Given the description of an element on the screen output the (x, y) to click on. 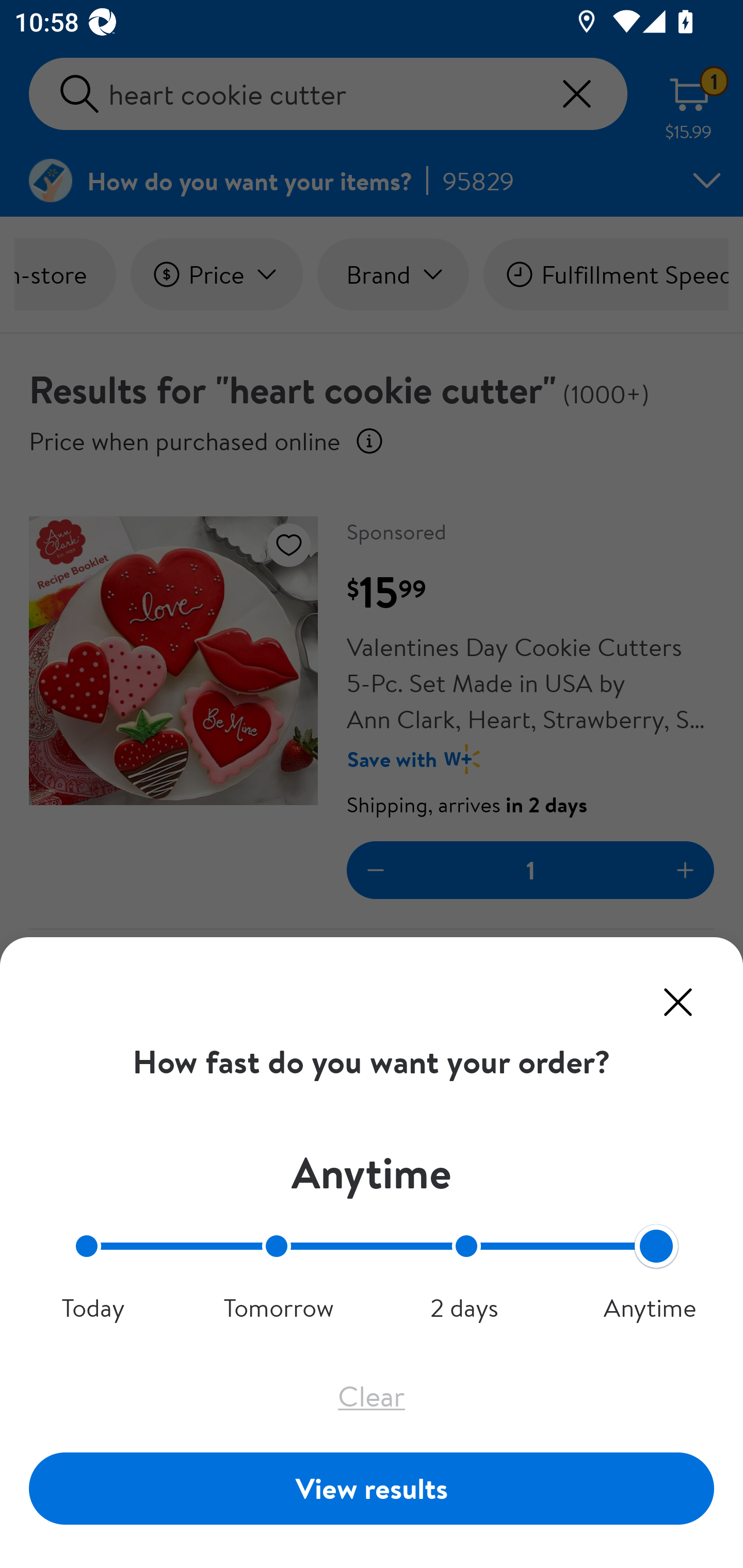
Close (677, 1001)
Clear (371, 1395)
View results (371, 1487)
